Given the description of an element on the screen output the (x, y) to click on. 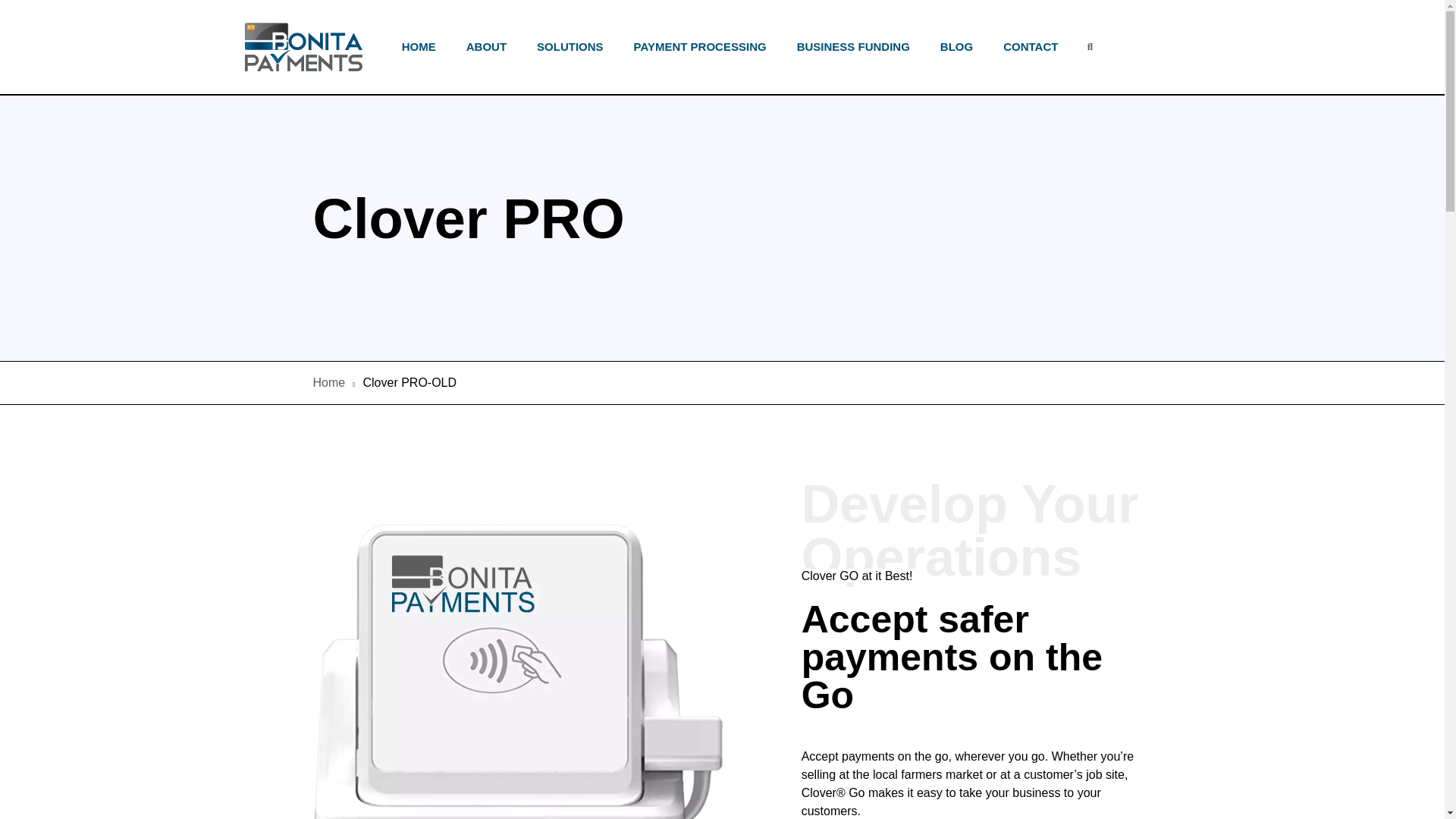
Clover PRO (468, 227)
ABOUT (486, 46)
BLOG (956, 46)
Home (329, 382)
HomeClover PRO-OLD (722, 382)
HOME (419, 46)
Accept safer payments on the Go (975, 666)
Develop Your Operations (975, 531)
PAYMENT PROCESSING (699, 46)
CONTACT (1030, 46)
BUSINESS FUNDING (853, 46)
SOLUTIONS (570, 46)
